Given the description of an element on the screen output the (x, y) to click on. 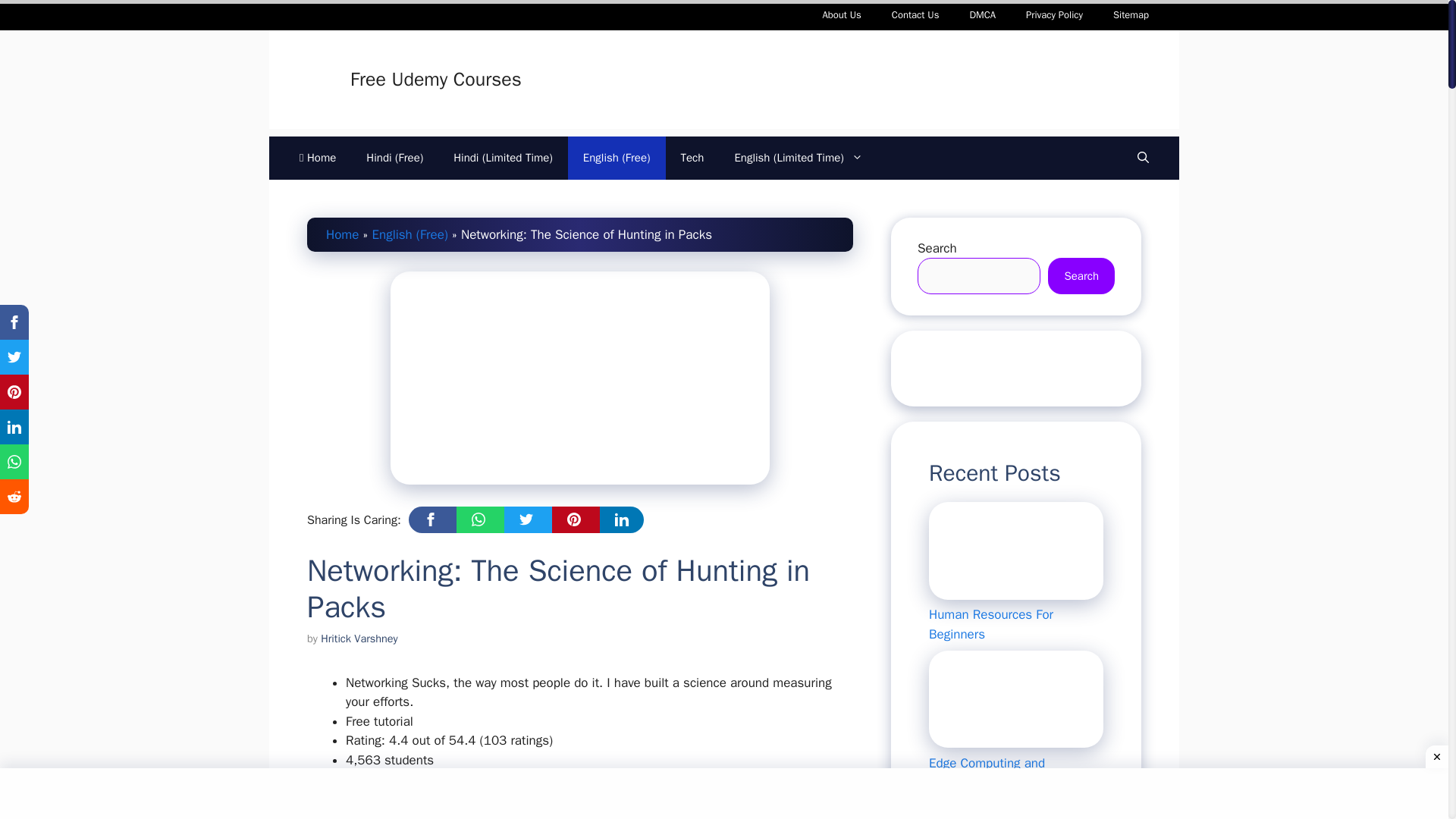
Contact Us (915, 15)
DMCA (981, 15)
About Us (841, 15)
Free Udemy Courses (435, 78)
Privacy Policy (1053, 15)
Tech (692, 157)
View all posts by Hritick Varshney (358, 638)
Sitemap (1130, 15)
